Given the description of an element on the screen output the (x, y) to click on. 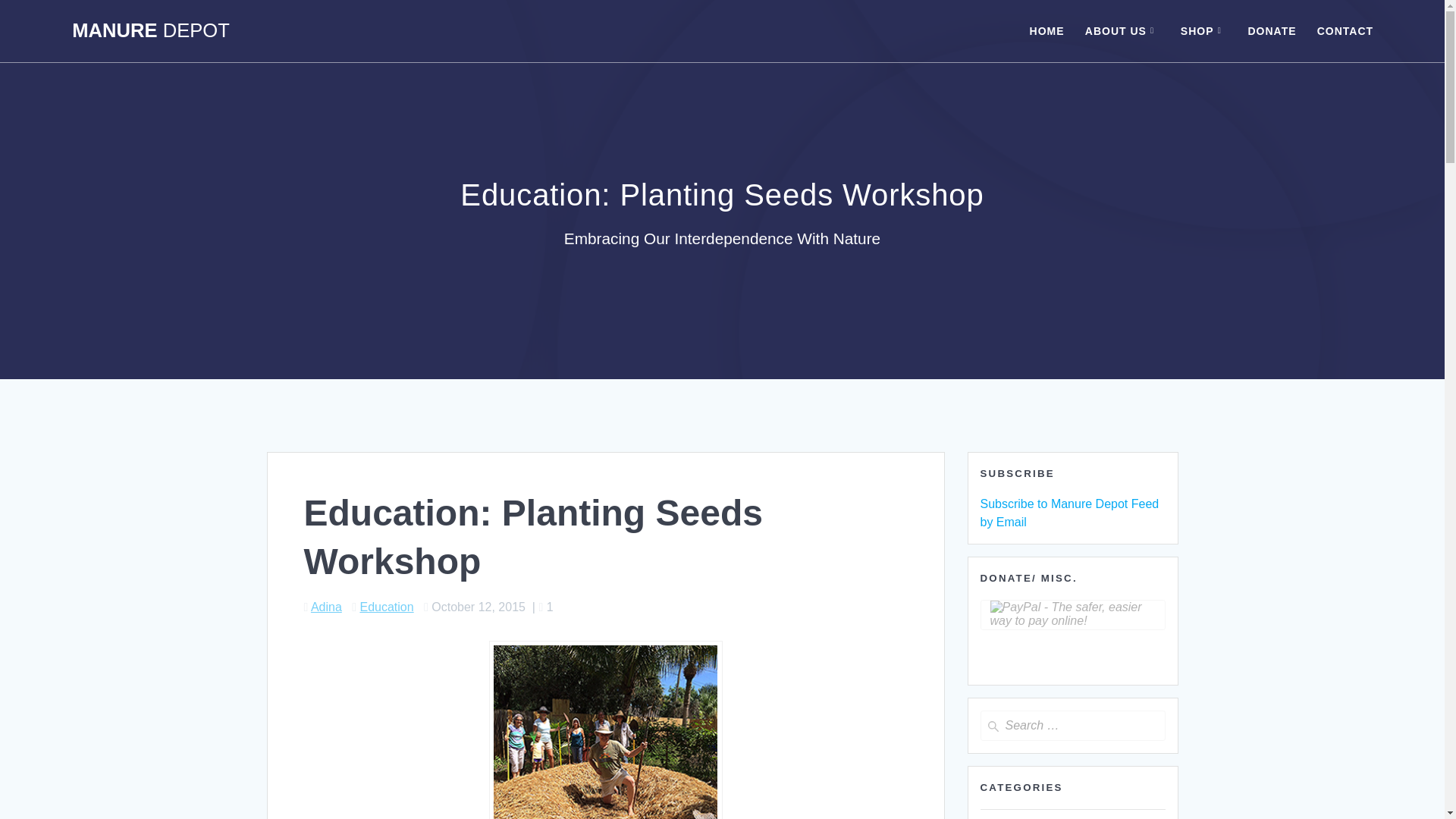
Subscribe to Manure Depot Feed by Email (1068, 512)
CONTACT (1345, 30)
Adina (326, 606)
ABOUT US (1122, 30)
MANURE DEPOT (150, 30)
HOME (1046, 30)
SHOP (1203, 30)
Education (386, 606)
DONATE (1271, 30)
Posts by Adina (326, 606)
